Given the description of an element on the screen output the (x, y) to click on. 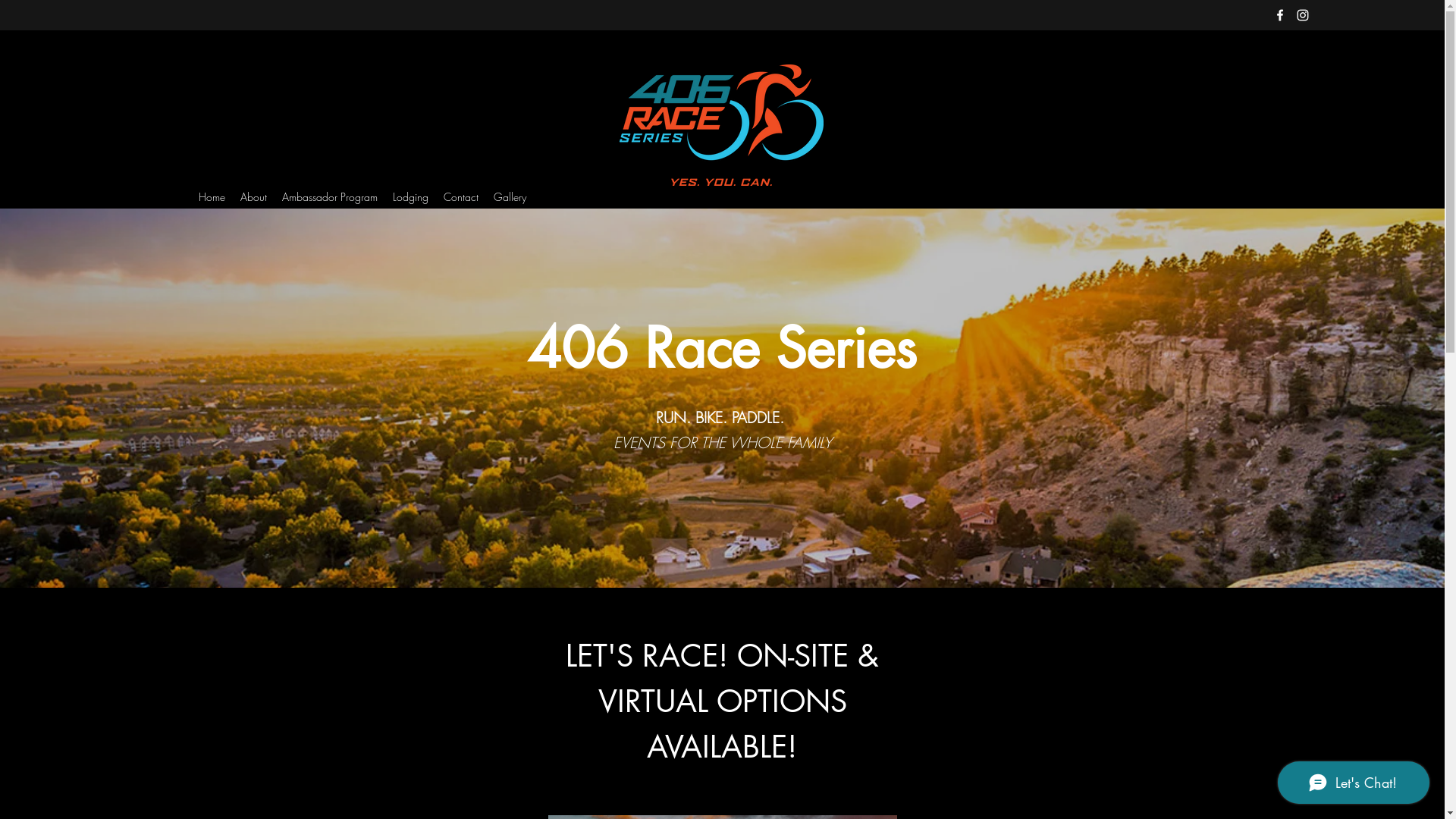
About Element type: text (252, 196)
Lodging Element type: text (410, 196)
Gallery Element type: text (509, 196)
Contact Element type: text (460, 196)
Home Element type: text (211, 196)
Ambassador Program Element type: text (329, 196)
